Given the description of an element on the screen output the (x, y) to click on. 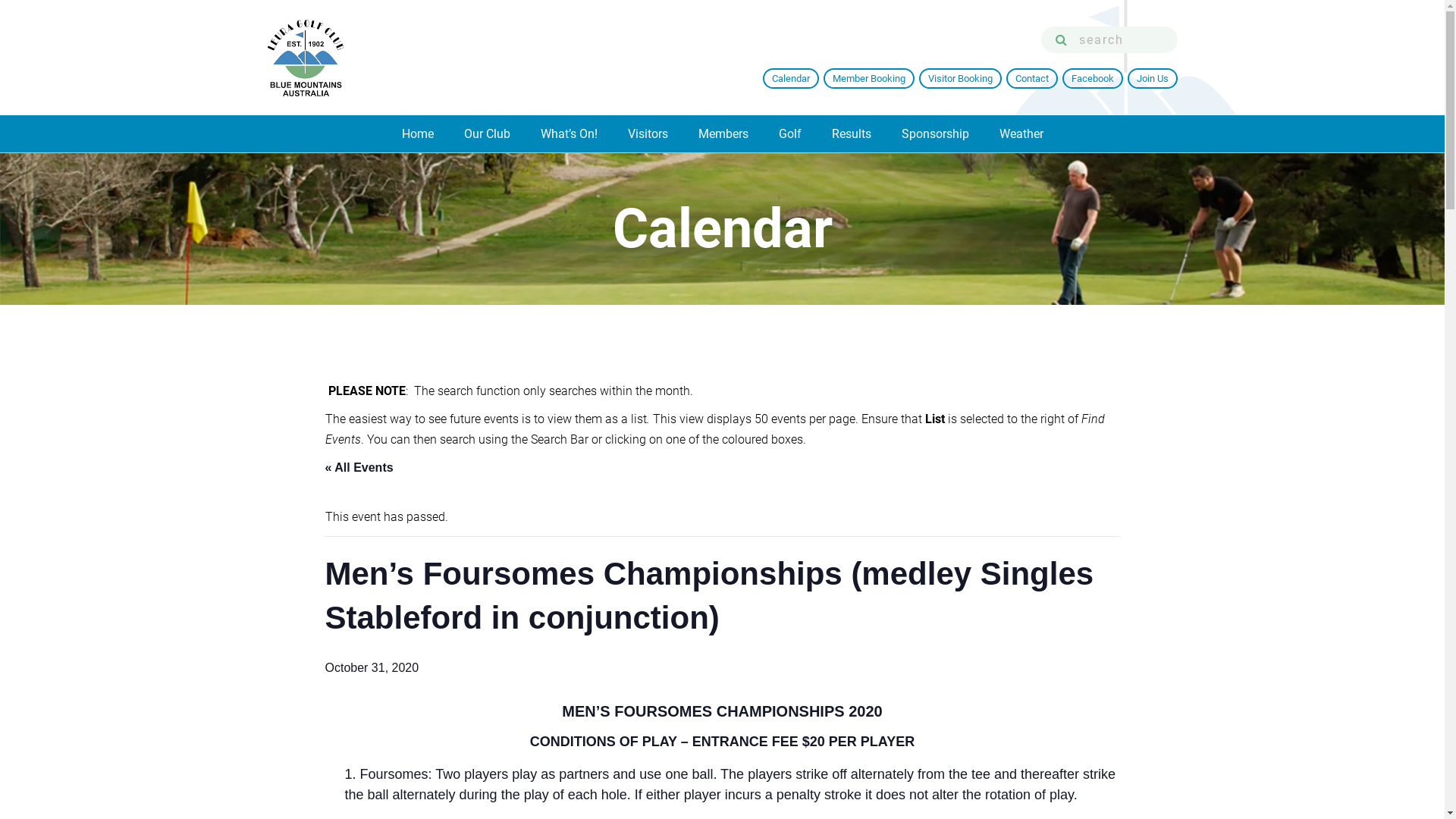
Facebook Element type: text (1091, 78)
Member Booking Element type: text (868, 78)
Calendar Element type: text (790, 78)
Join Us Element type: text (1151, 78)
Contact Element type: text (1031, 78)
Home Element type: text (417, 133)
Results Element type: text (850, 133)
Weather Element type: text (1021, 133)
Our Club Element type: text (486, 133)
Members Element type: text (722, 133)
Visitor Booking Element type: text (960, 78)
Sponsorship Element type: text (934, 133)
Golf Element type: text (788, 133)
Visitors Element type: text (647, 133)
